Given the description of an element on the screen output the (x, y) to click on. 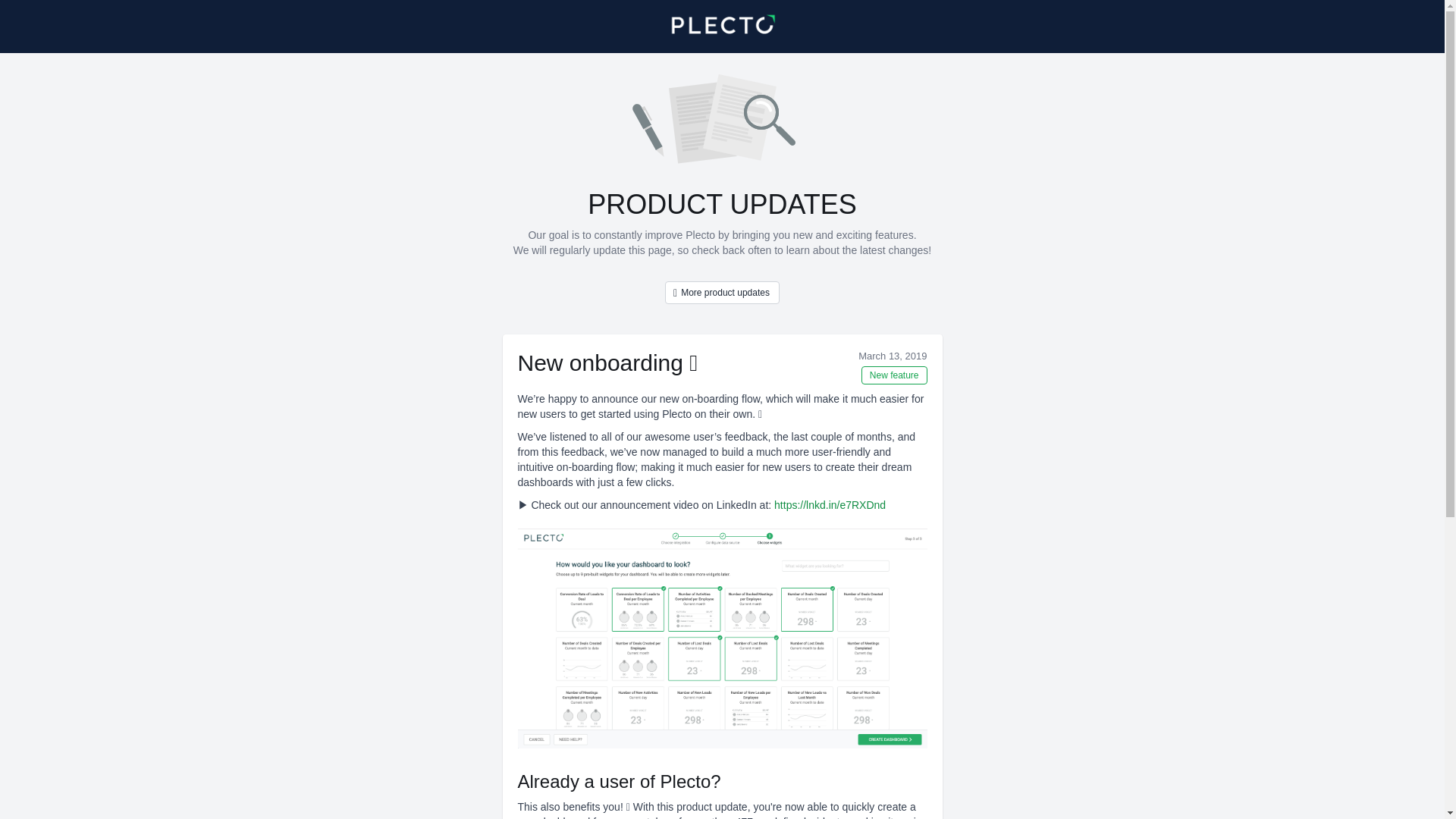
More product updates (721, 292)
Home (721, 26)
